Given the description of an element on the screen output the (x, y) to click on. 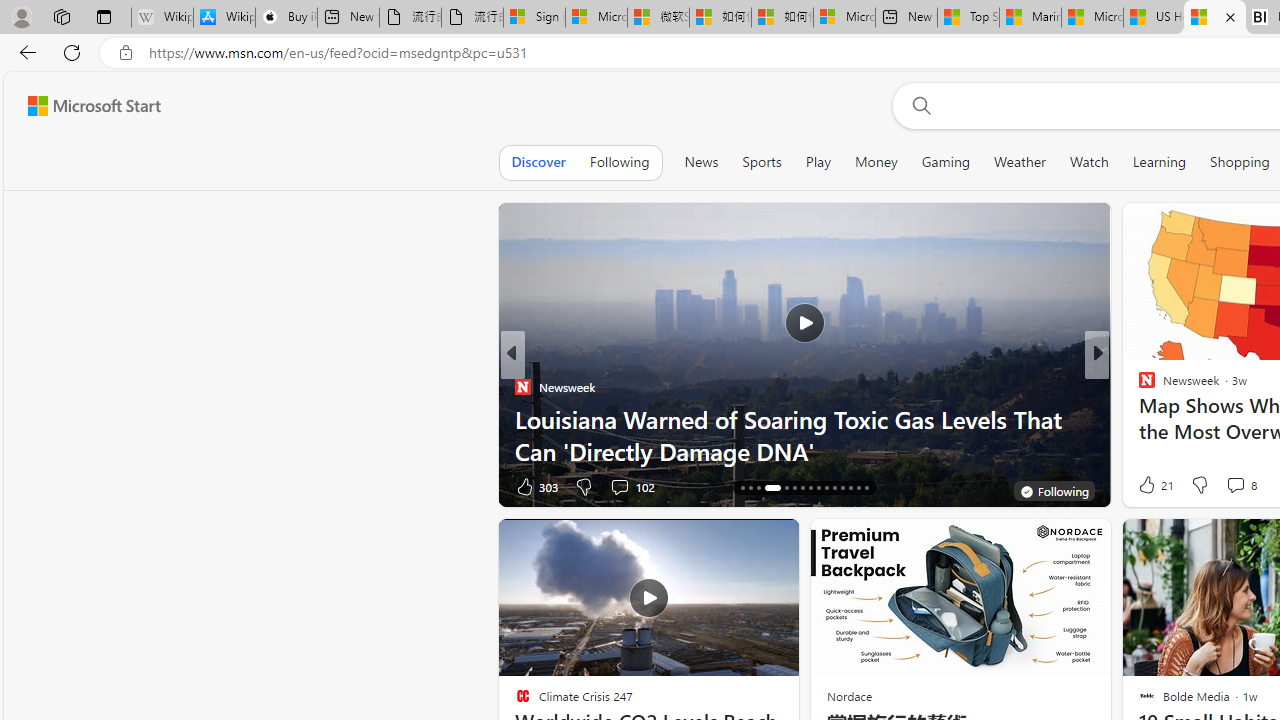
View comments 4 Comment (1234, 486)
SlashGear (1138, 418)
View comments 102 Comment (632, 486)
Vox.com (1138, 386)
View comments 3 Comment (1234, 486)
AutomationID: tab-21 (793, 487)
